Given the description of an element on the screen output the (x, y) to click on. 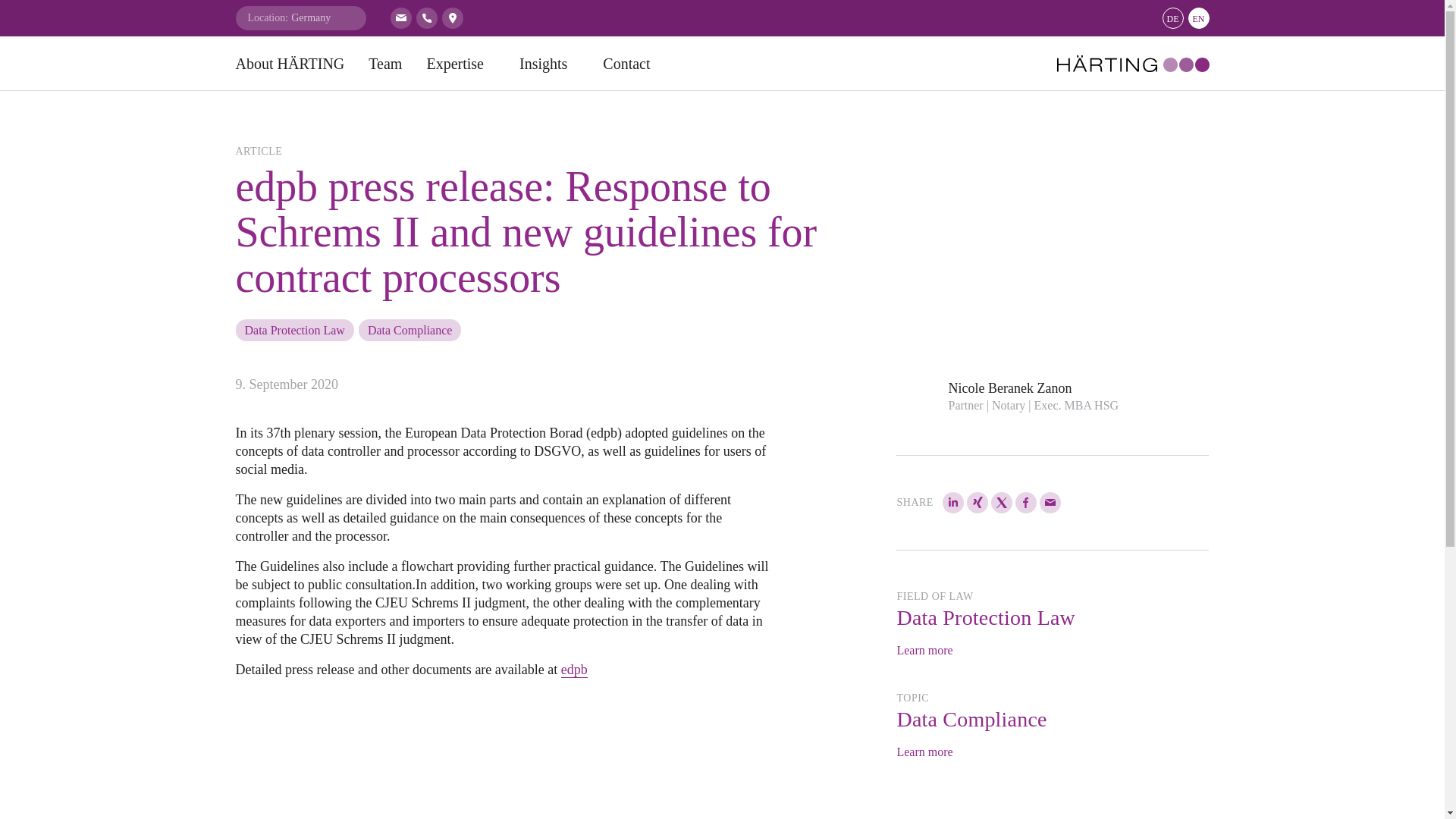
DE (1171, 17)
EN (1198, 17)
Insights (548, 63)
Expertise (460, 63)
